Given the description of an element on the screen output the (x, y) to click on. 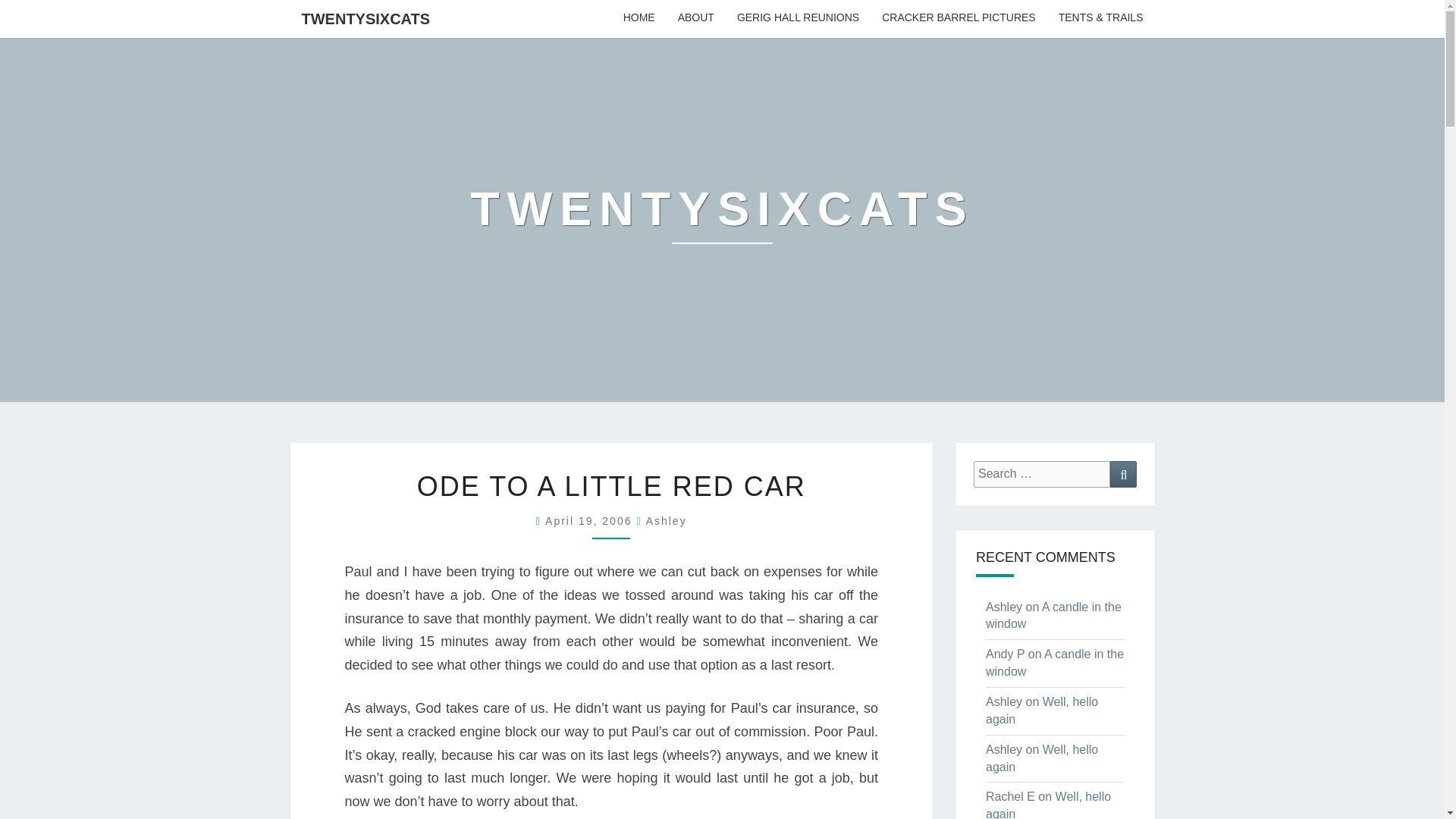
TWENTYSIXCATS (365, 18)
View all posts by Ashley (666, 521)
Well, hello again (1047, 804)
A candle in the window (1053, 615)
GERIG HALL REUNIONS (797, 18)
ABOUT (695, 18)
twentysixcats (722, 219)
Search (1123, 474)
Ashley (666, 521)
HOME (638, 18)
Well, hello again (1041, 710)
A candle in the window (1054, 662)
TWENTYSIXCATS (722, 219)
Well, hello again (1041, 757)
April 19, 2006 (590, 521)
